Given the description of an element on the screen output the (x, y) to click on. 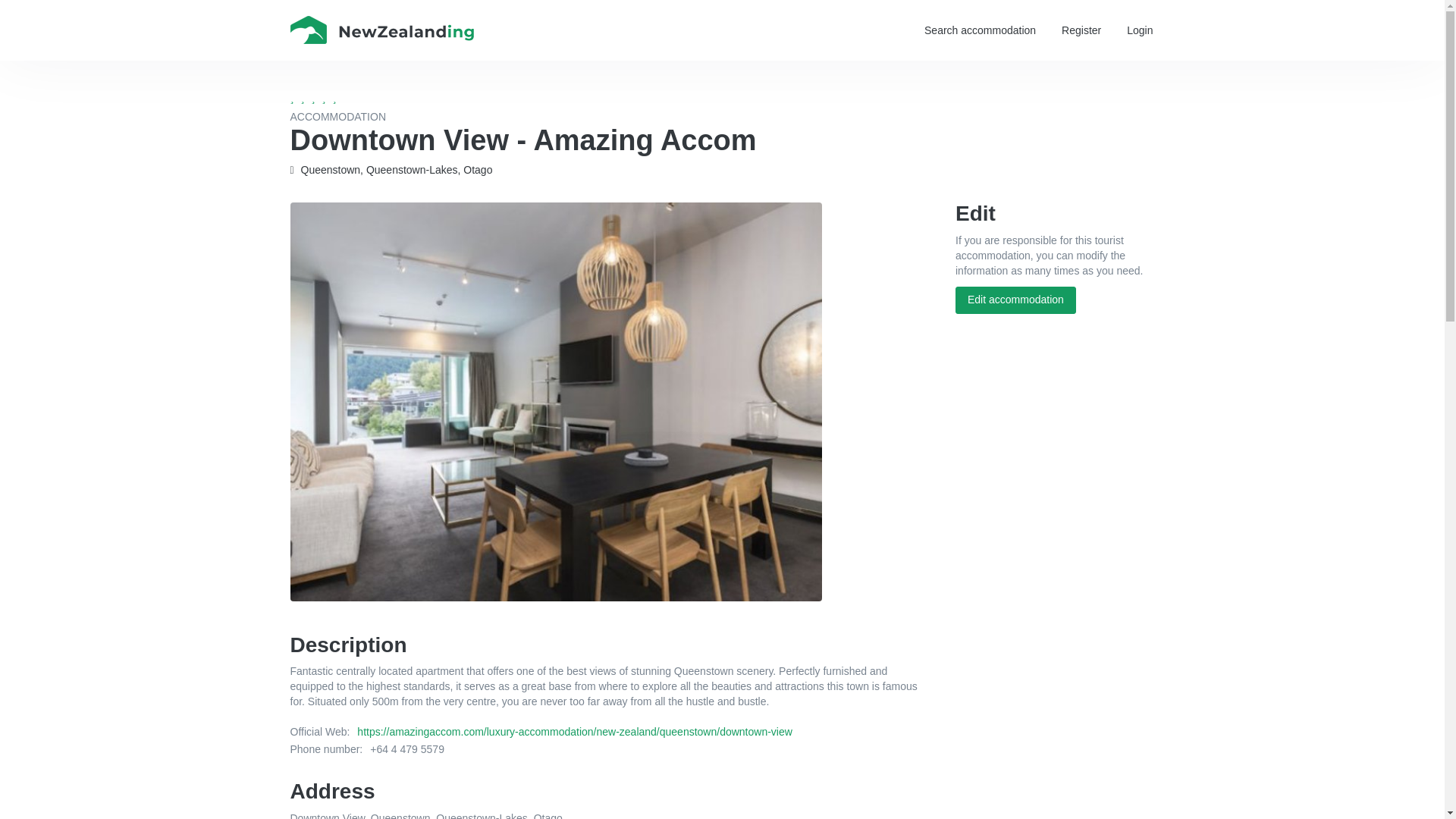
Login (1139, 30)
Search accommodation (979, 30)
Edit accommodation (1015, 299)
Register (1080, 30)
